Given the description of an element on the screen output the (x, y) to click on. 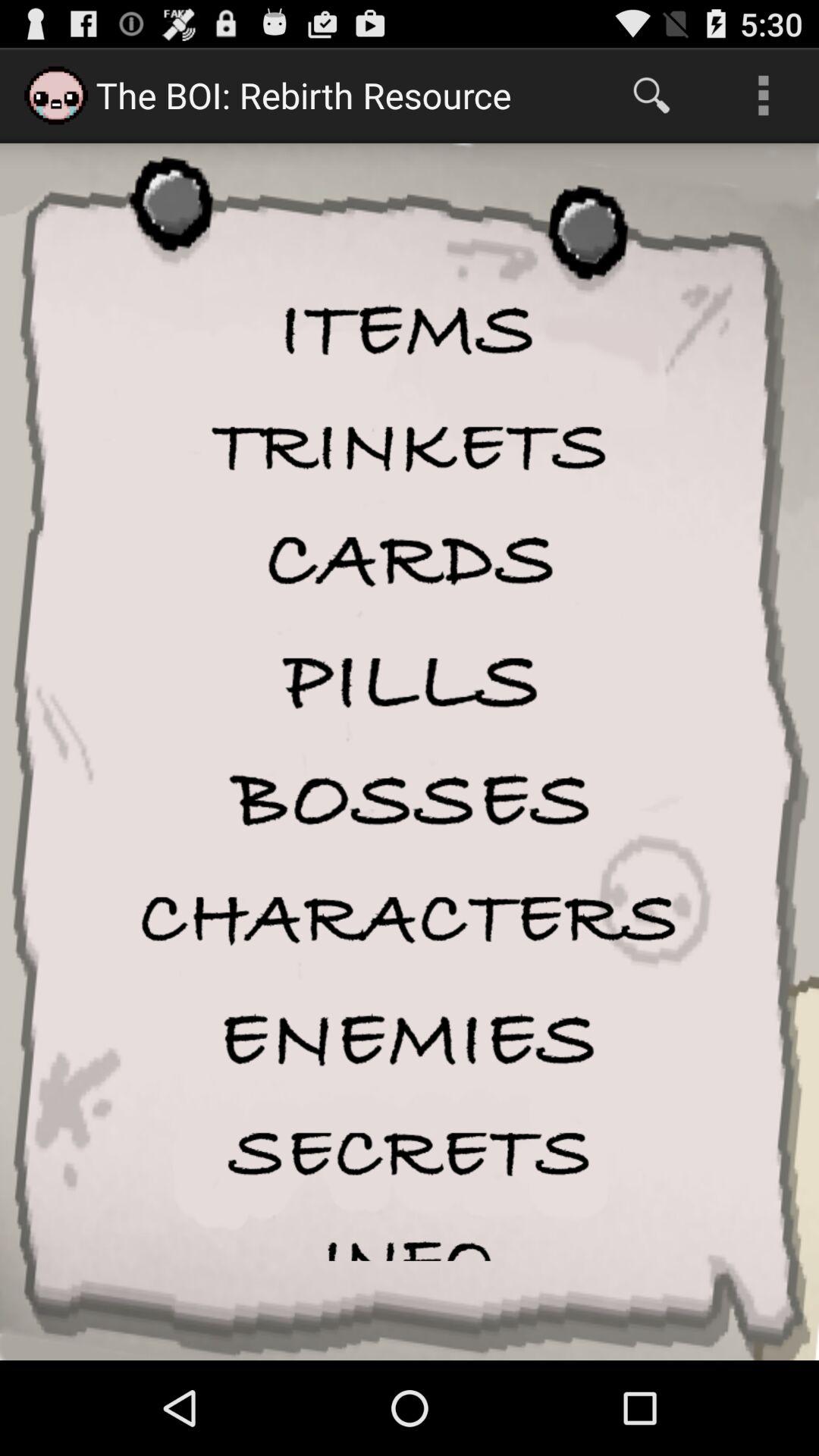
select the option cards (409, 561)
